Given the description of an element on the screen output the (x, y) to click on. 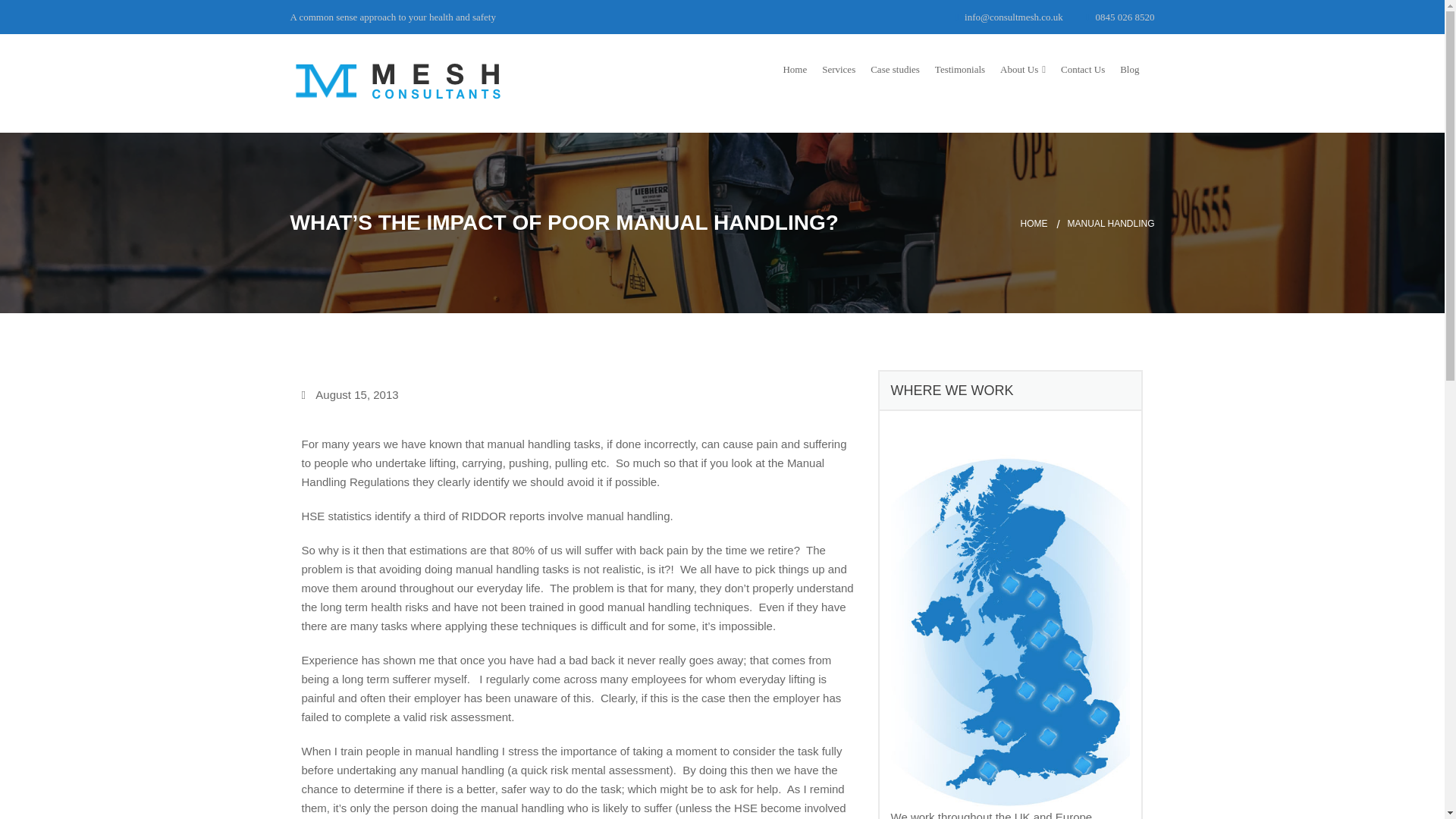
Contact Us (1083, 68)
Blog (1128, 68)
HOME (1043, 223)
Testimonials (959, 68)
Home (794, 68)
About Us (1022, 68)
Services (839, 68)
0845 026 8520 (1120, 16)
MANUAL HANDLING (1110, 223)
Case studies (895, 68)
